Given the description of an element on the screen output the (x, y) to click on. 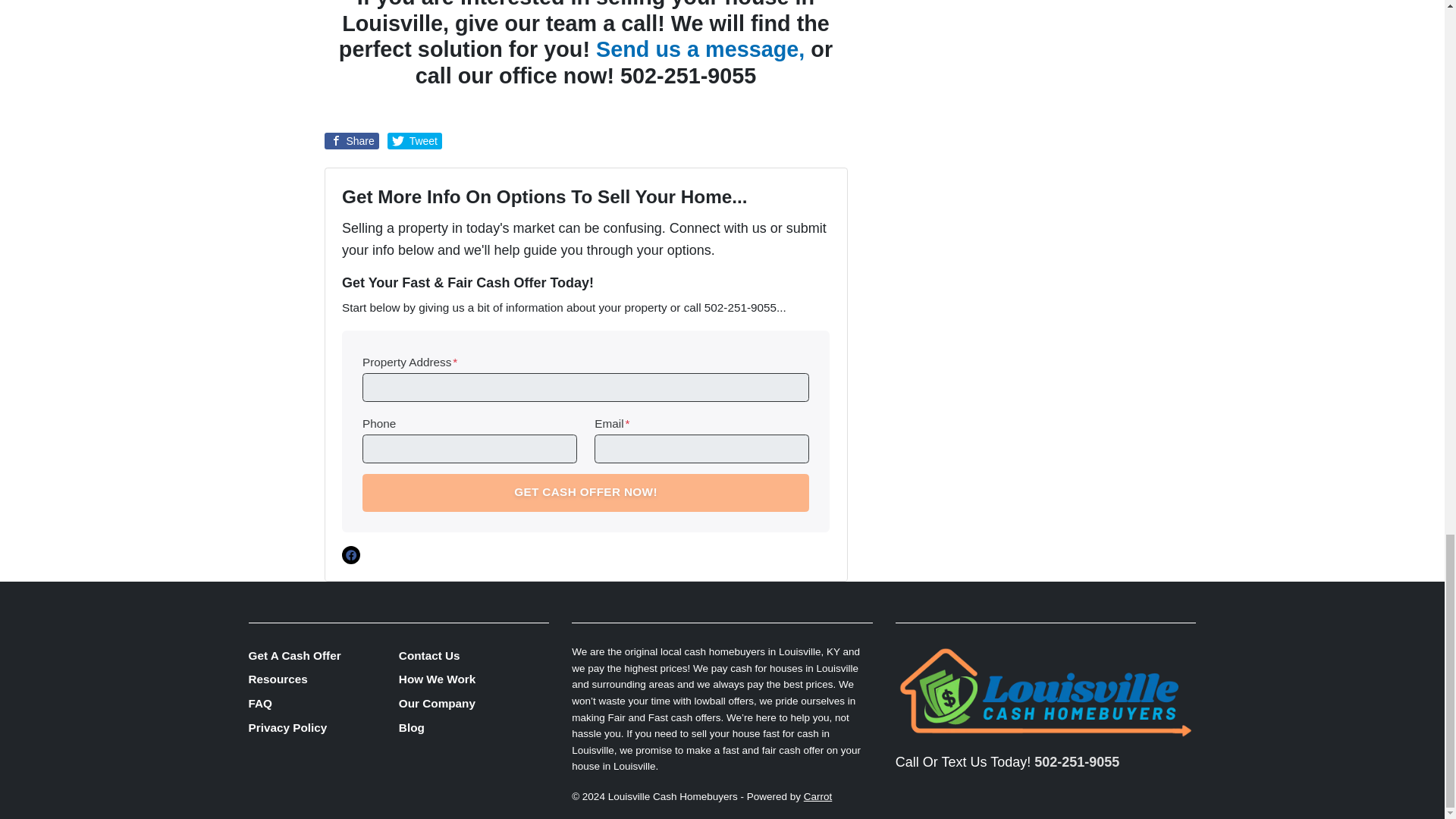
Resources (323, 680)
Facebook (350, 555)
Our Company (473, 704)
Contact Us (473, 655)
Blog (473, 727)
Share on Twitter (414, 140)
FAQ (323, 704)
Carrot (817, 796)
How We Work (473, 680)
Get A Cash Offer (323, 655)
Get Cash Offer Now! (585, 492)
Share (351, 140)
Get Cash Offer Now! (585, 492)
Tweet (414, 140)
Privacy Policy (323, 727)
